Given the description of an element on the screen output the (x, y) to click on. 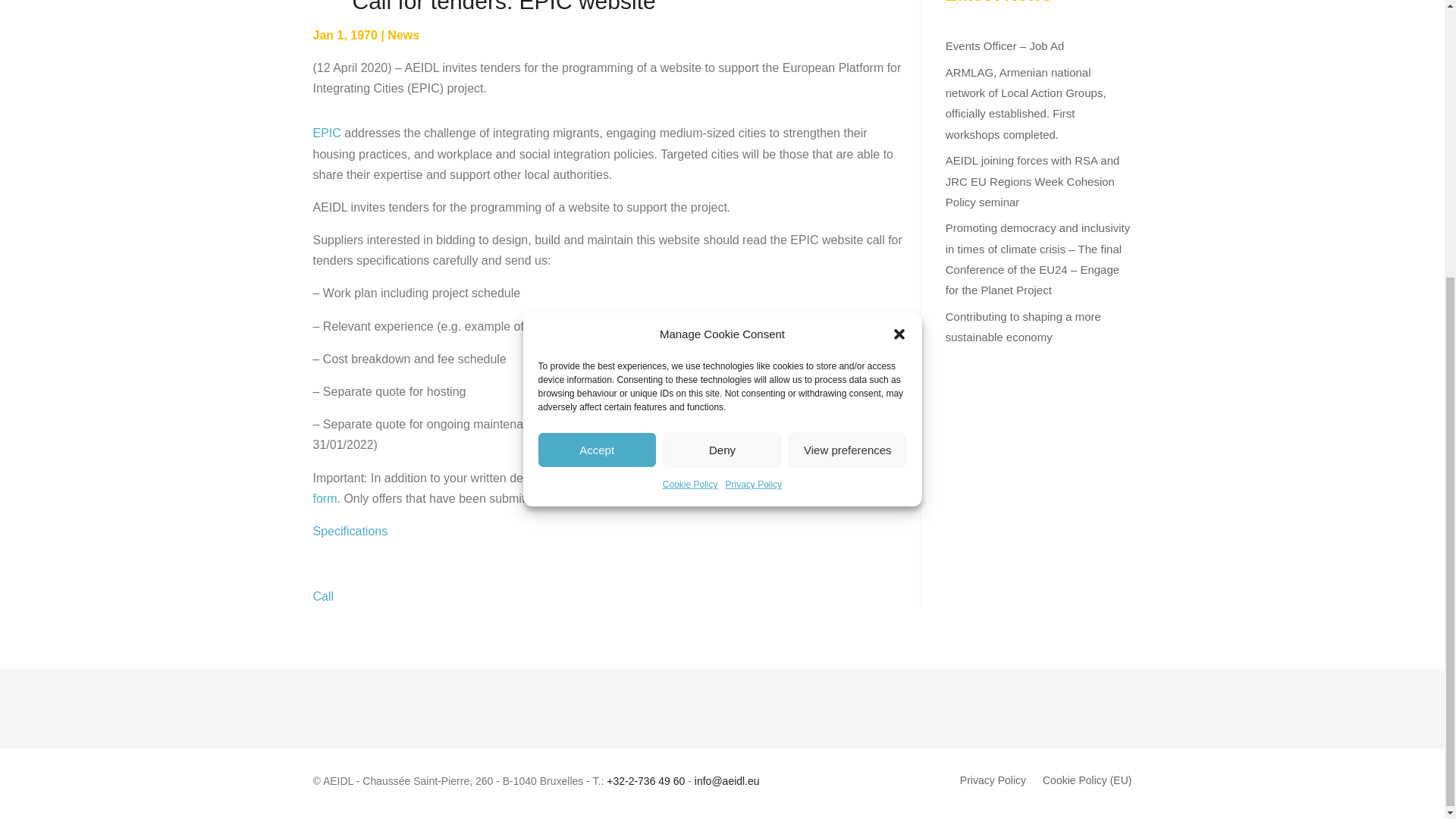
View preferences (847, 35)
Privacy Policy (753, 70)
Accept (597, 35)
Cookie Policy (689, 70)
Deny (721, 35)
